Given the description of an element on the screen output the (x, y) to click on. 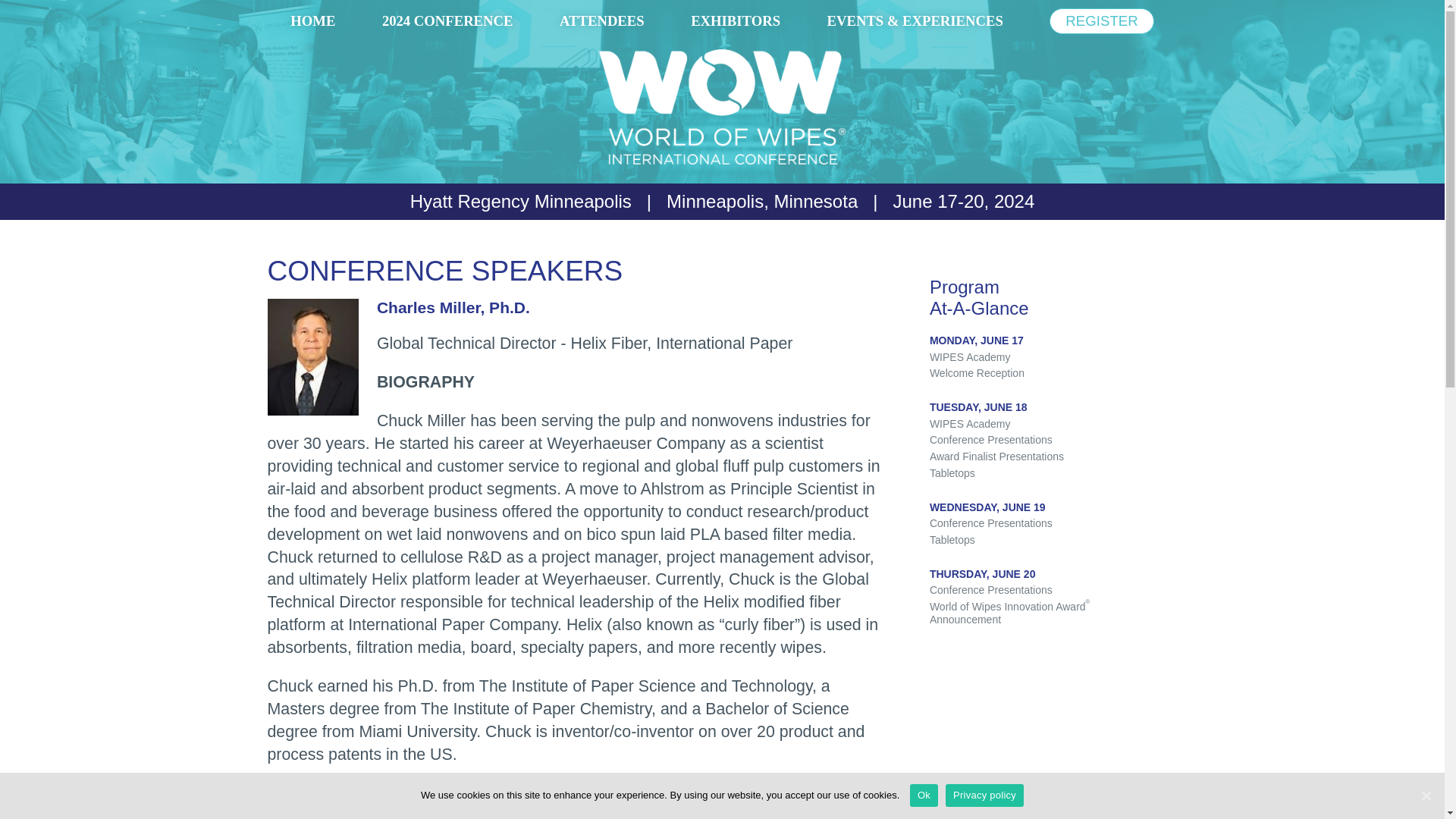
EXHIBITORS (735, 21)
WEDNESDAY, JUNE 19 (987, 507)
THURSDAY, JUNE 20 (982, 573)
MONDAY, JUNE 17 (976, 340)
ATTENDEES (602, 21)
2024 CONFERENCE (447, 21)
HOME (311, 21)
TUESDAY, JUNE 18 (978, 407)
REGISTER (1101, 21)
